Given the description of an element on the screen output the (x, y) to click on. 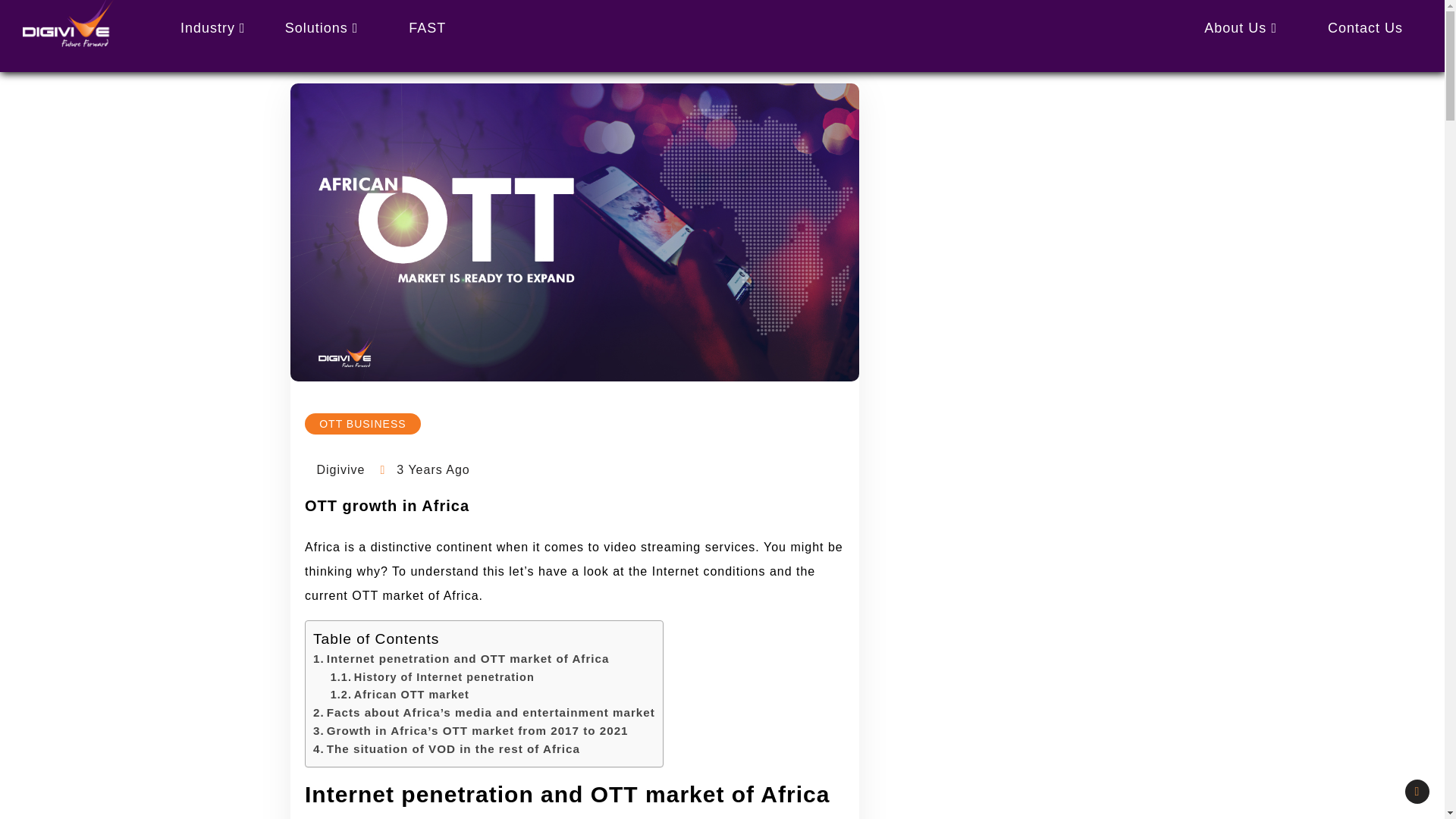
African OTT market (399, 694)
Contact Us (1365, 27)
History of Internet penetration (432, 676)
The situation of VOD in the rest of Africa (446, 748)
About Us (1241, 27)
3 Years Ago (432, 469)
Digivive (334, 469)
FAST (427, 27)
Internet penetration and OTT market of Africa (460, 658)
OTT BUSINESS (362, 423)
